Given the description of an element on the screen output the (x, y) to click on. 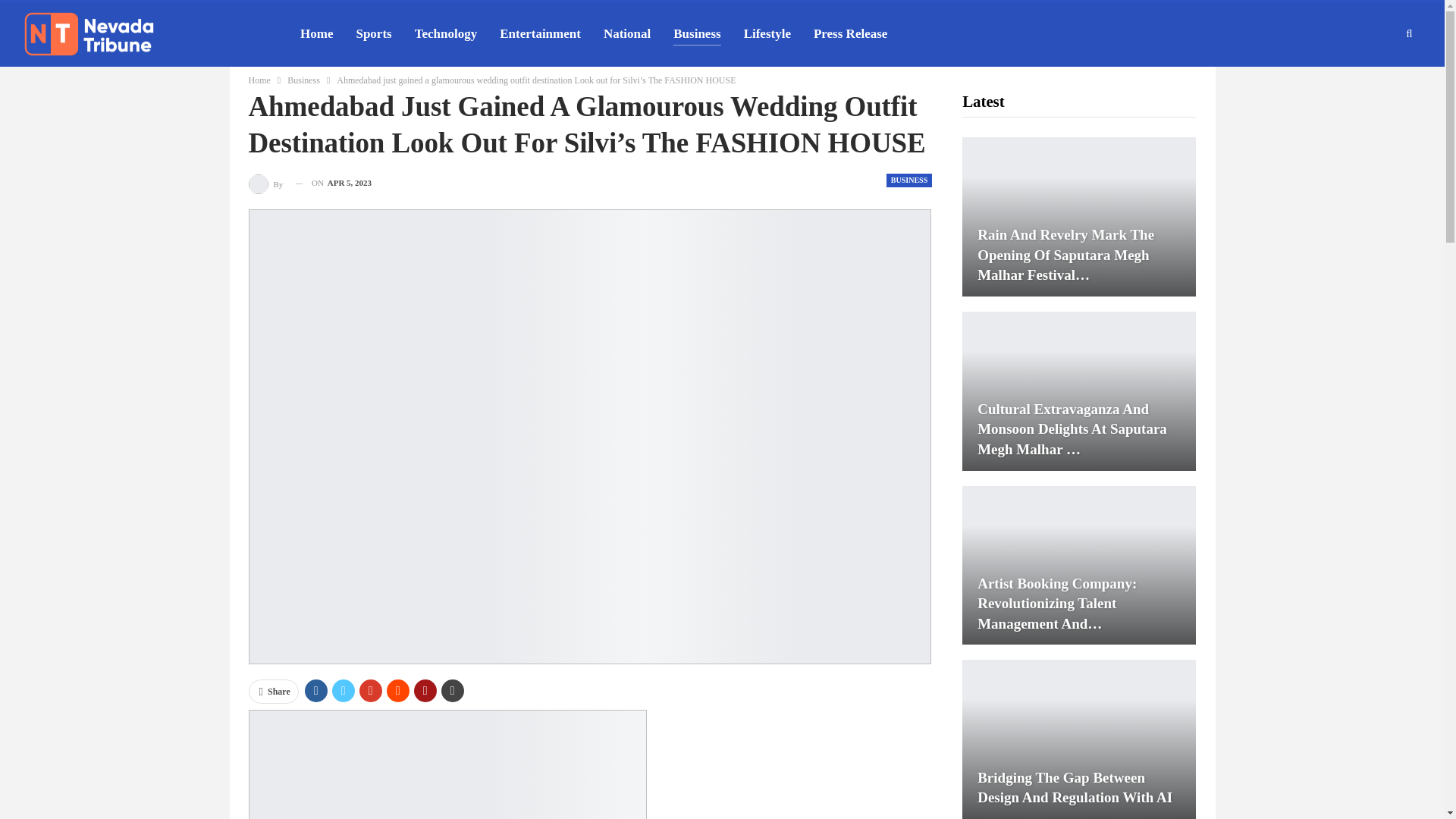
Technology (445, 34)
Home (259, 80)
Press Release (849, 34)
Browse Author Articles (266, 182)
Business (303, 80)
Entertainment (539, 34)
By (266, 182)
BUSINESS (908, 180)
